Given the description of an element on the screen output the (x, y) to click on. 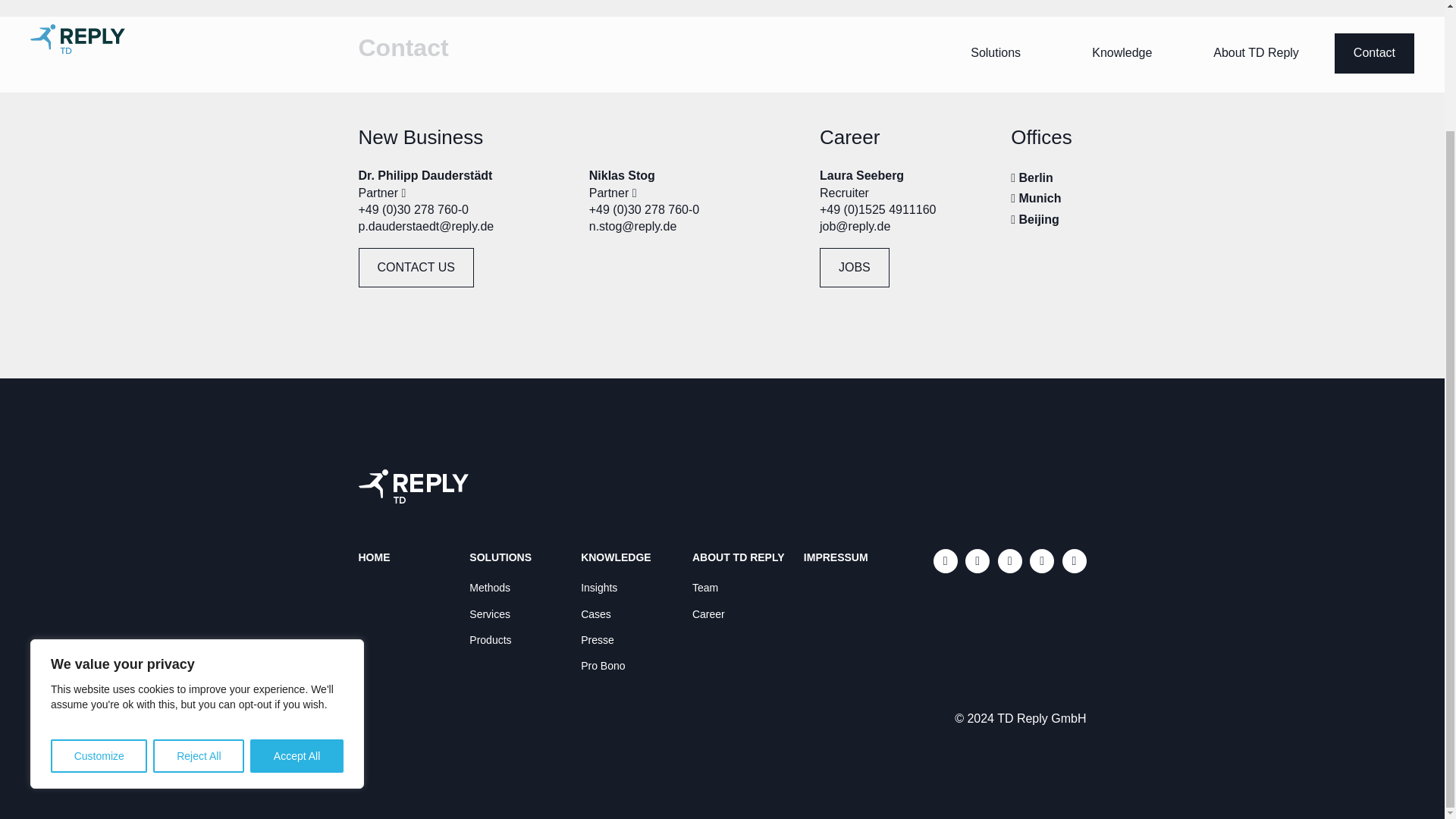
Customize (98, 610)
Accept All (296, 610)
Reject All (198, 610)
